Given the description of an element on the screen output the (x, y) to click on. 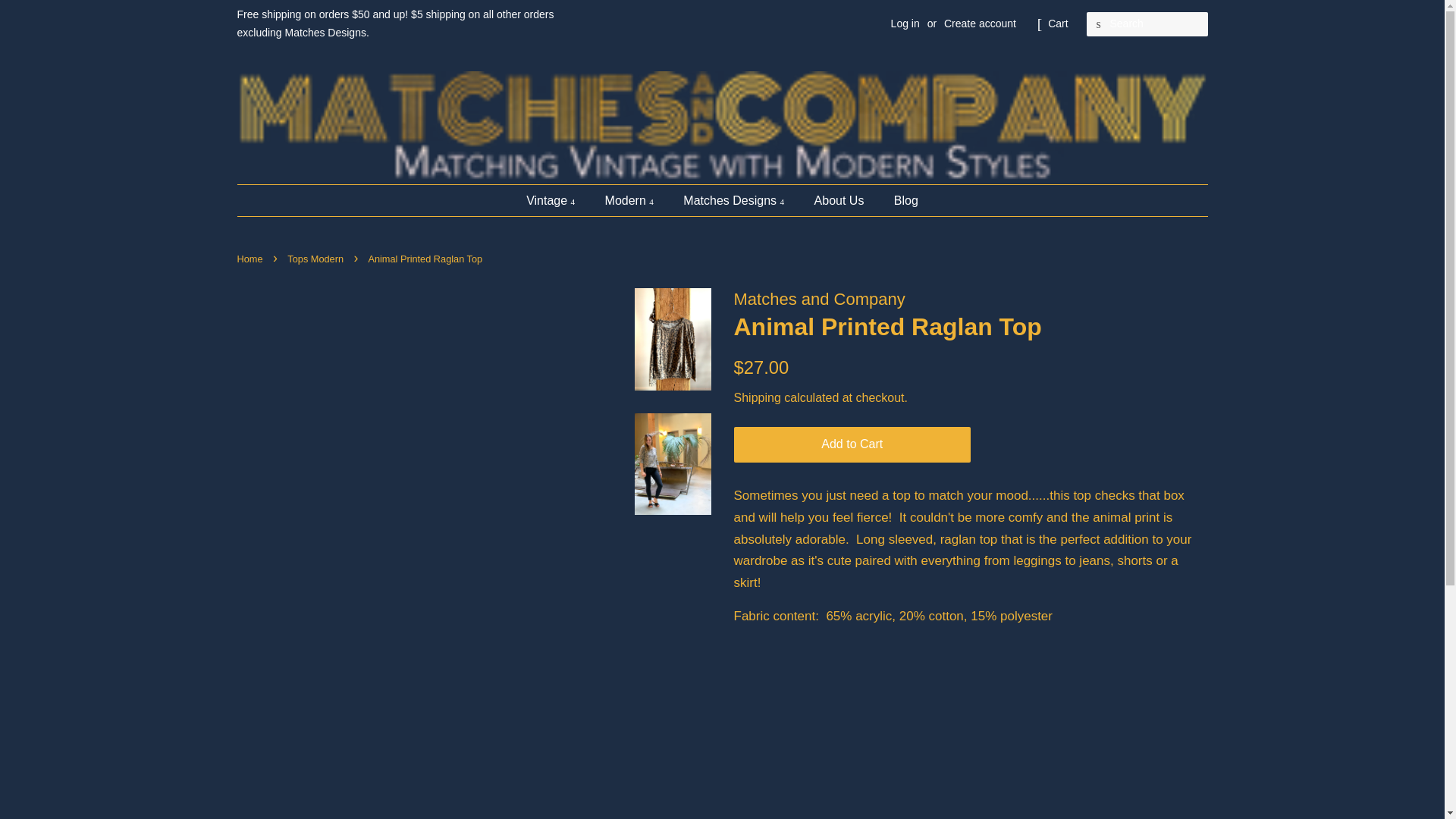
Back to the frontpage (250, 258)
Create account (979, 23)
Search (1097, 24)
Log in (905, 23)
Cart (1057, 24)
